Given the description of an element on the screen output the (x, y) to click on. 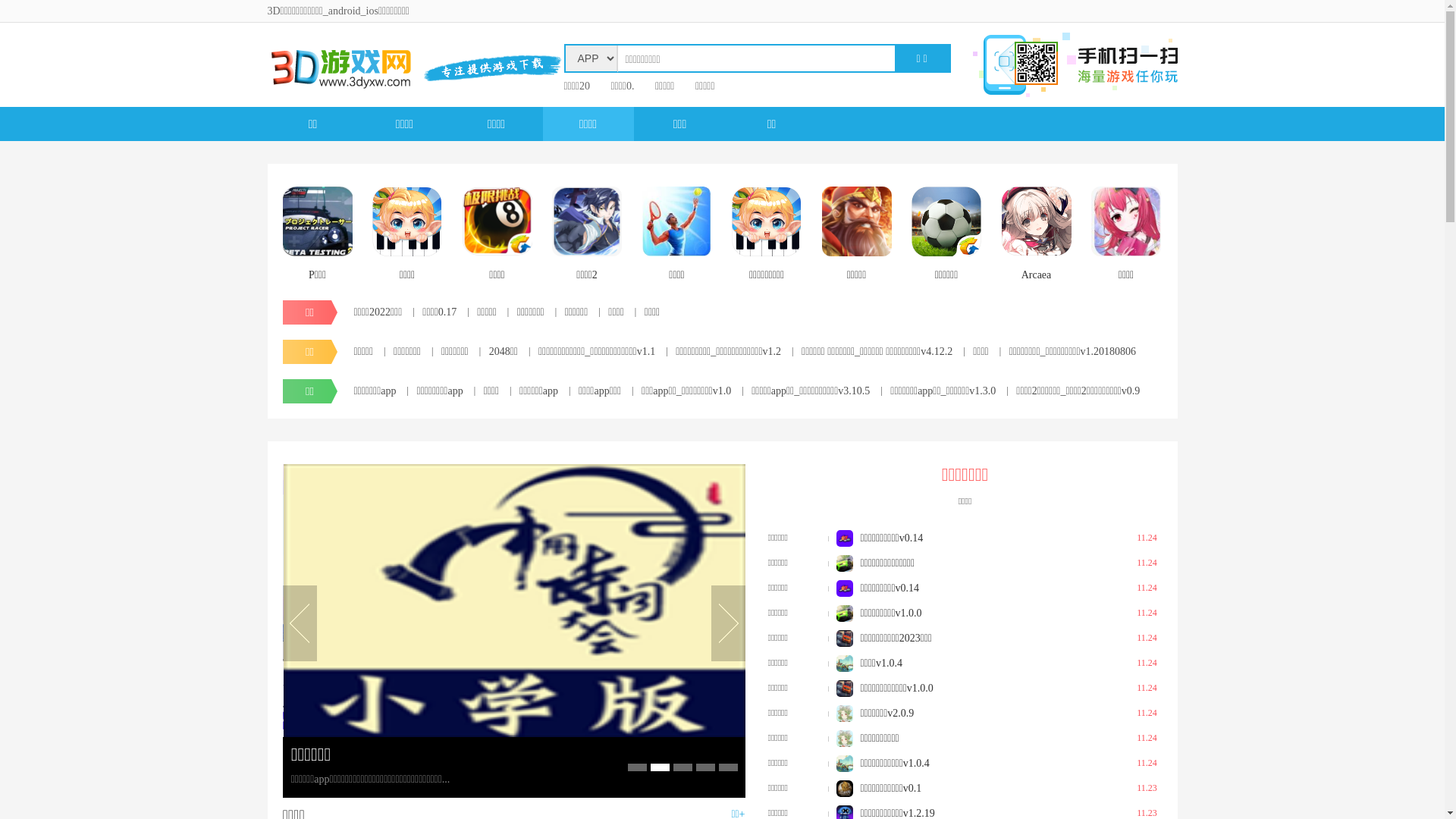
Arcaea Element type: text (1035, 236)
